Given the description of an element on the screen output the (x, y) to click on. 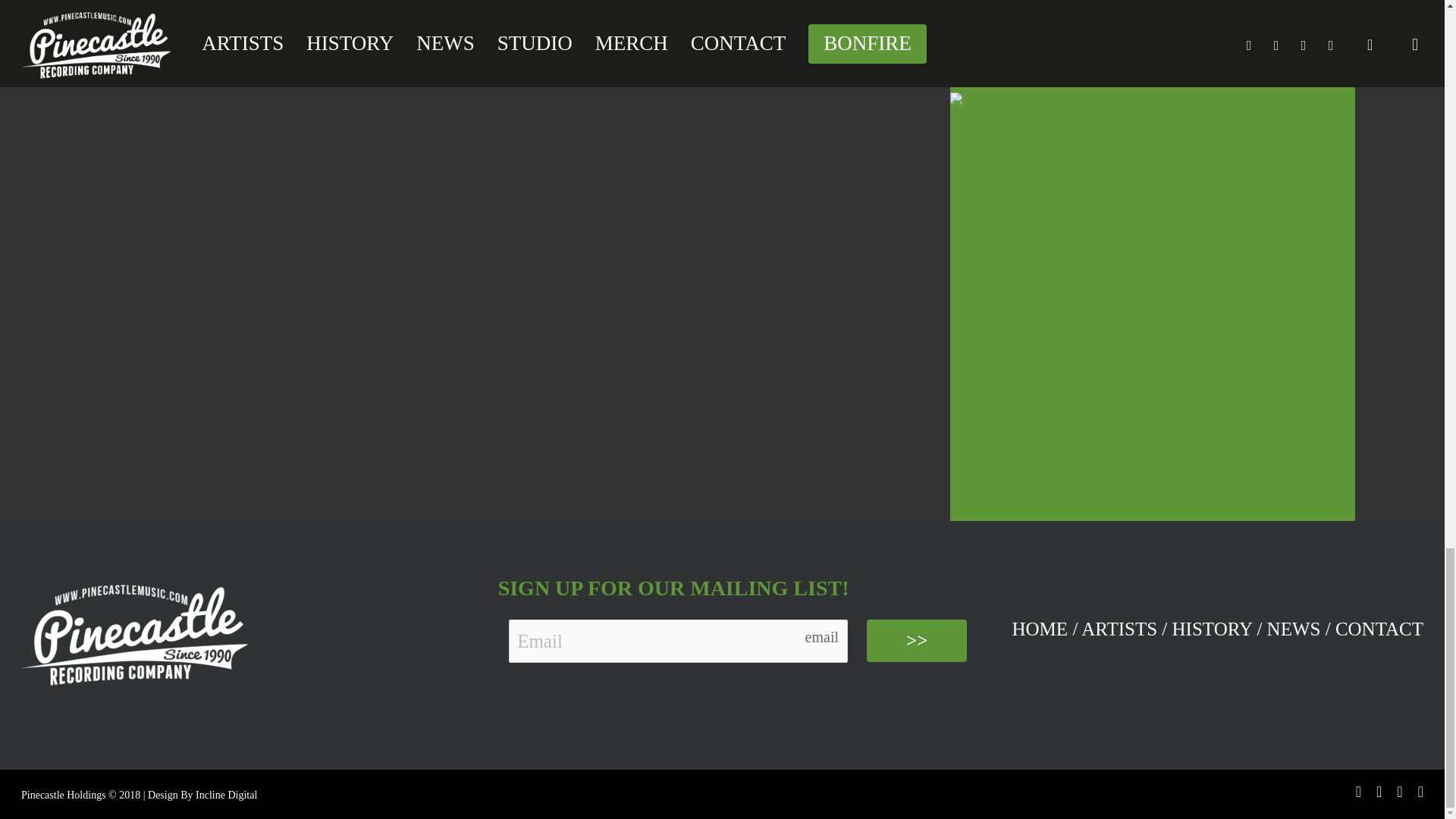
ARTISTS (1119, 629)
Incline Digital (226, 794)
CONTACT (1379, 629)
NEWS (1293, 629)
HOME (1039, 629)
HISTORY (1212, 629)
